Given the description of an element on the screen output the (x, y) to click on. 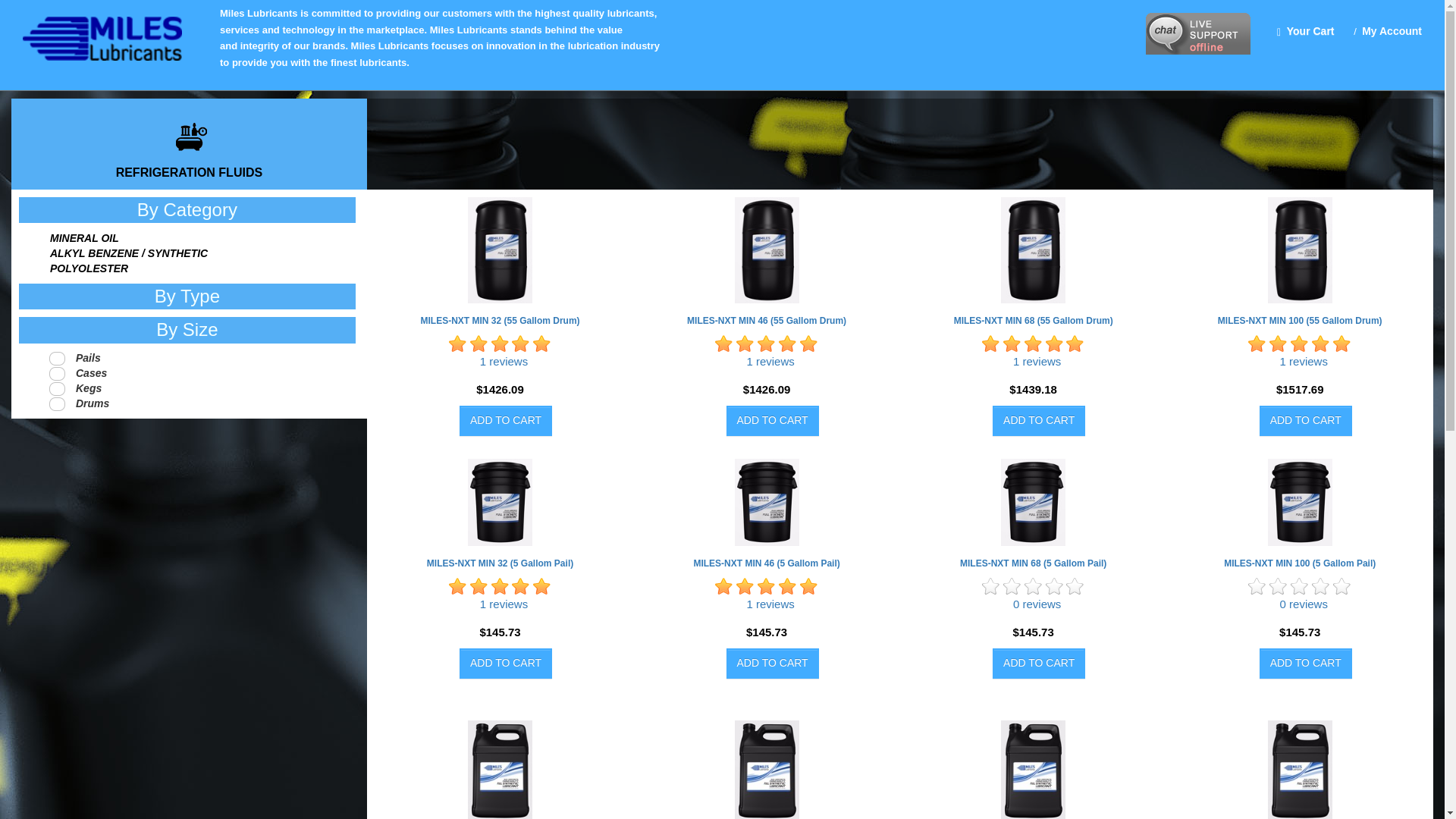
ADD TO CART (505, 419)
gorgeous (787, 343)
gorgeous (1033, 343)
My Account (1391, 30)
gorgeous (520, 343)
ADD TO CART (772, 419)
gorgeous (1012, 343)
gorgeous (723, 343)
POLYOLESTER (89, 268)
gorgeous (1054, 343)
MINERAL OIL (84, 238)
gorgeous (1074, 343)
gorgeous (808, 343)
ADD TO CART (1305, 663)
1 reviews (503, 603)
